Given the description of an element on the screen output the (x, y) to click on. 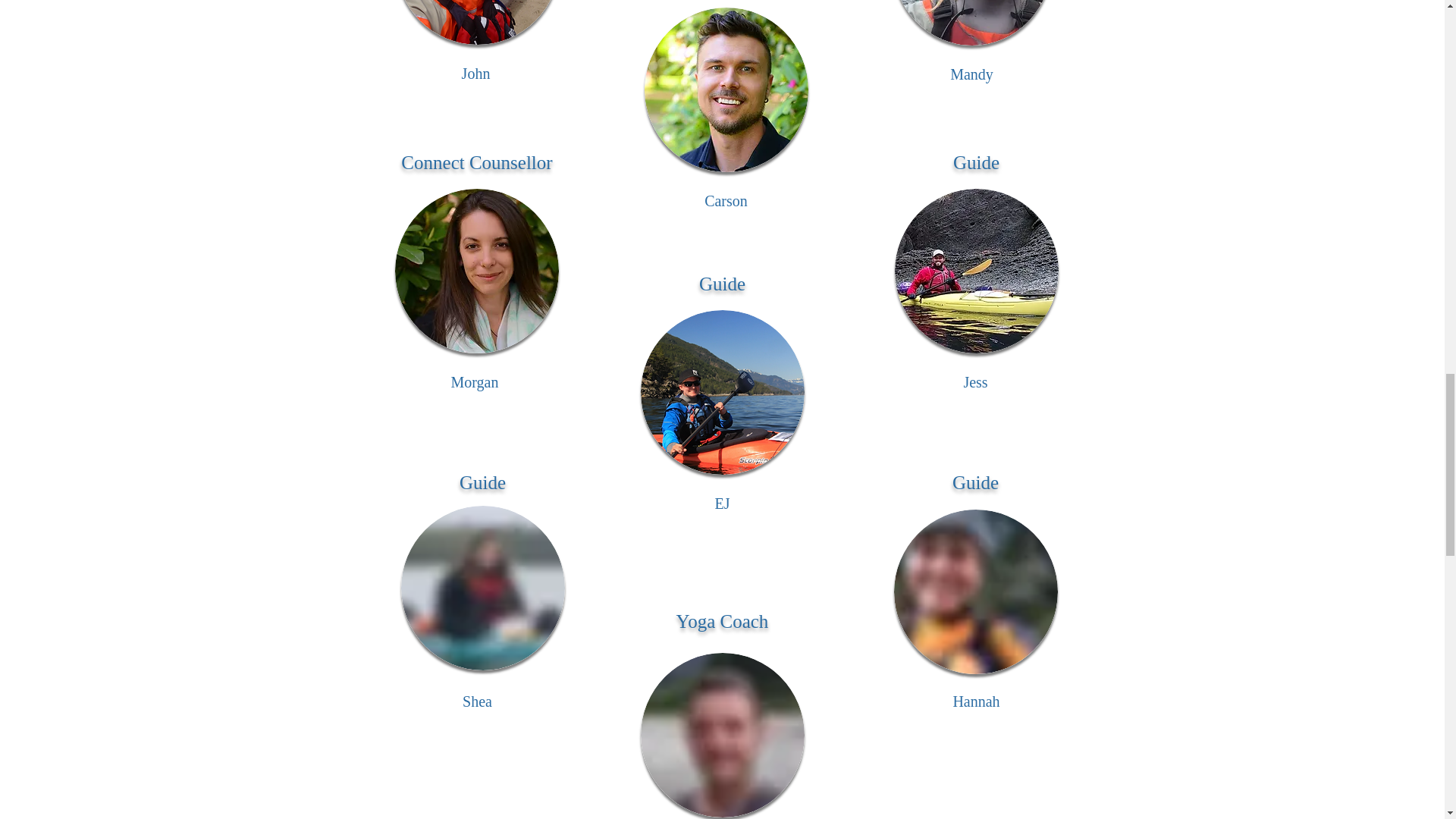
guy4.jpg (726, 89)
guy4.jpg (721, 392)
guy4.jpg (976, 270)
guy4.jpg (721, 734)
guy2.jpg (475, 270)
guy4.jpg (975, 591)
guy2.jpg (477, 22)
guy3.jpg (971, 22)
guy4.jpg (482, 588)
